Given the description of an element on the screen output the (x, y) to click on. 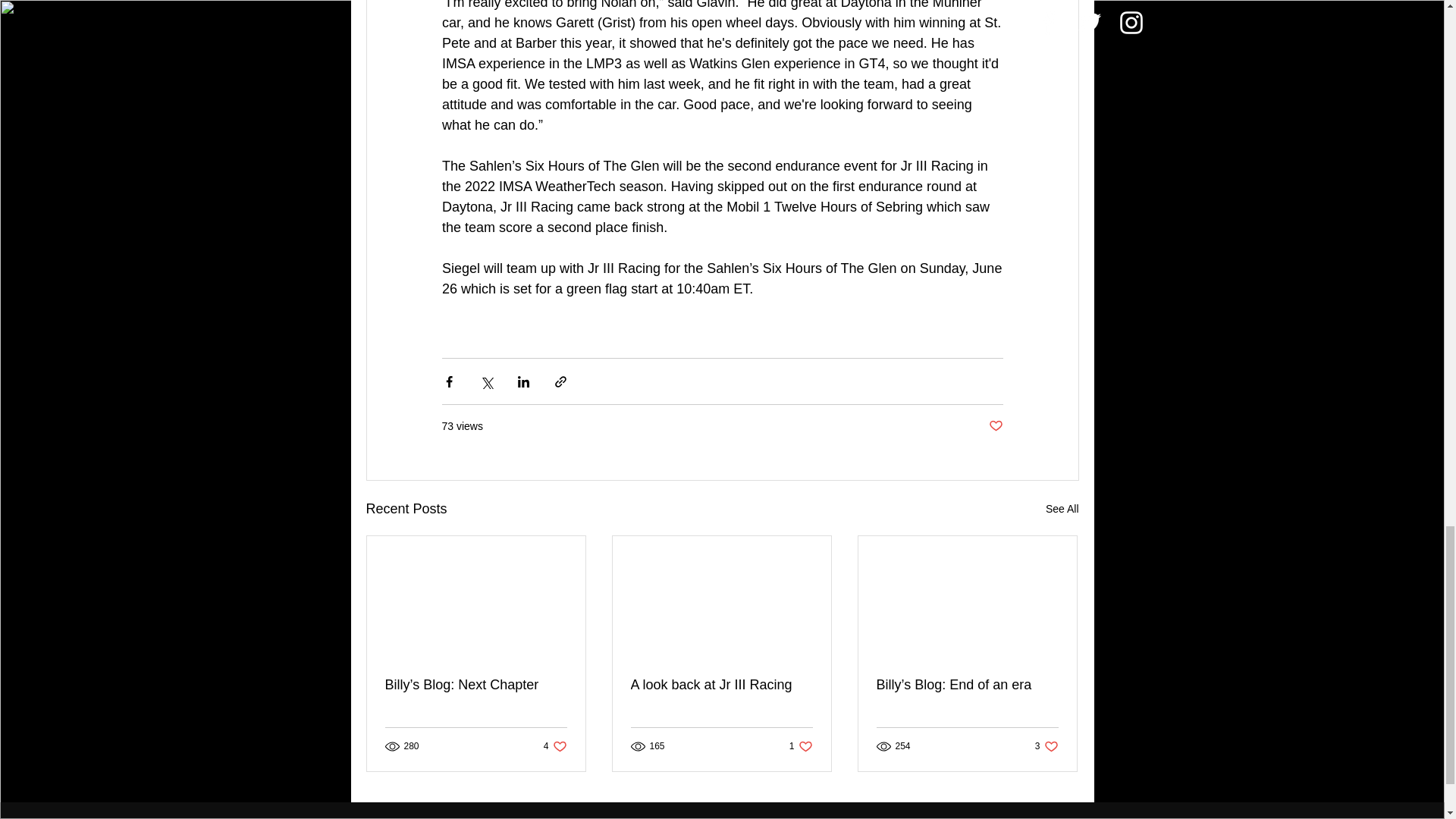
A look back at Jr III Racing (800, 745)
See All (555, 745)
Post not marked as liked (721, 684)
